Given the description of an element on the screen output the (x, y) to click on. 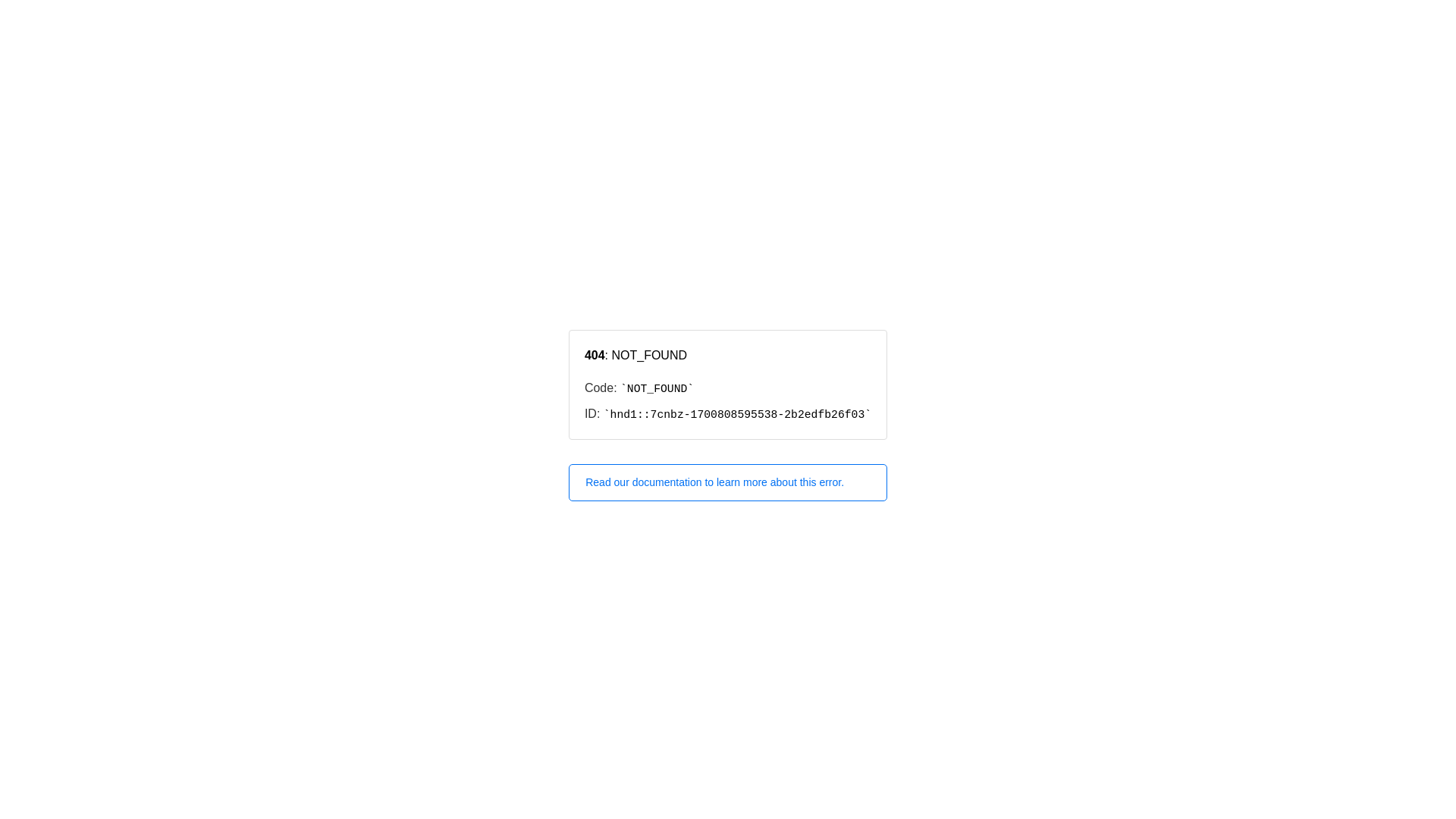
Read our documentation to learn more about this error. Element type: text (727, 482)
